Given the description of an element on the screen output the (x, y) to click on. 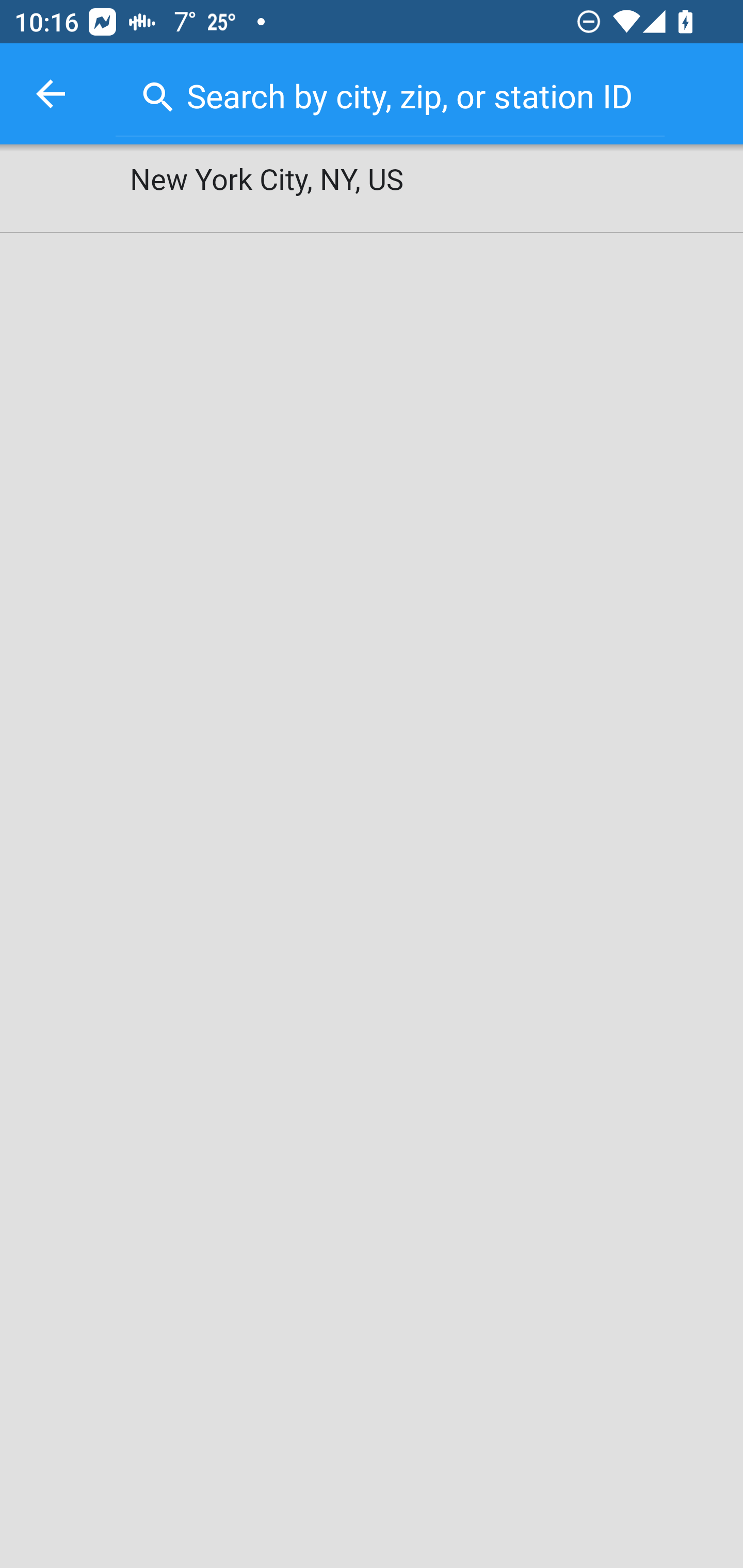
back (50, 93)
   Search by city, zip, or station ID (389, 92)
New York City, NY, US (371, 188)
